Given the description of an element on the screen output the (x, y) to click on. 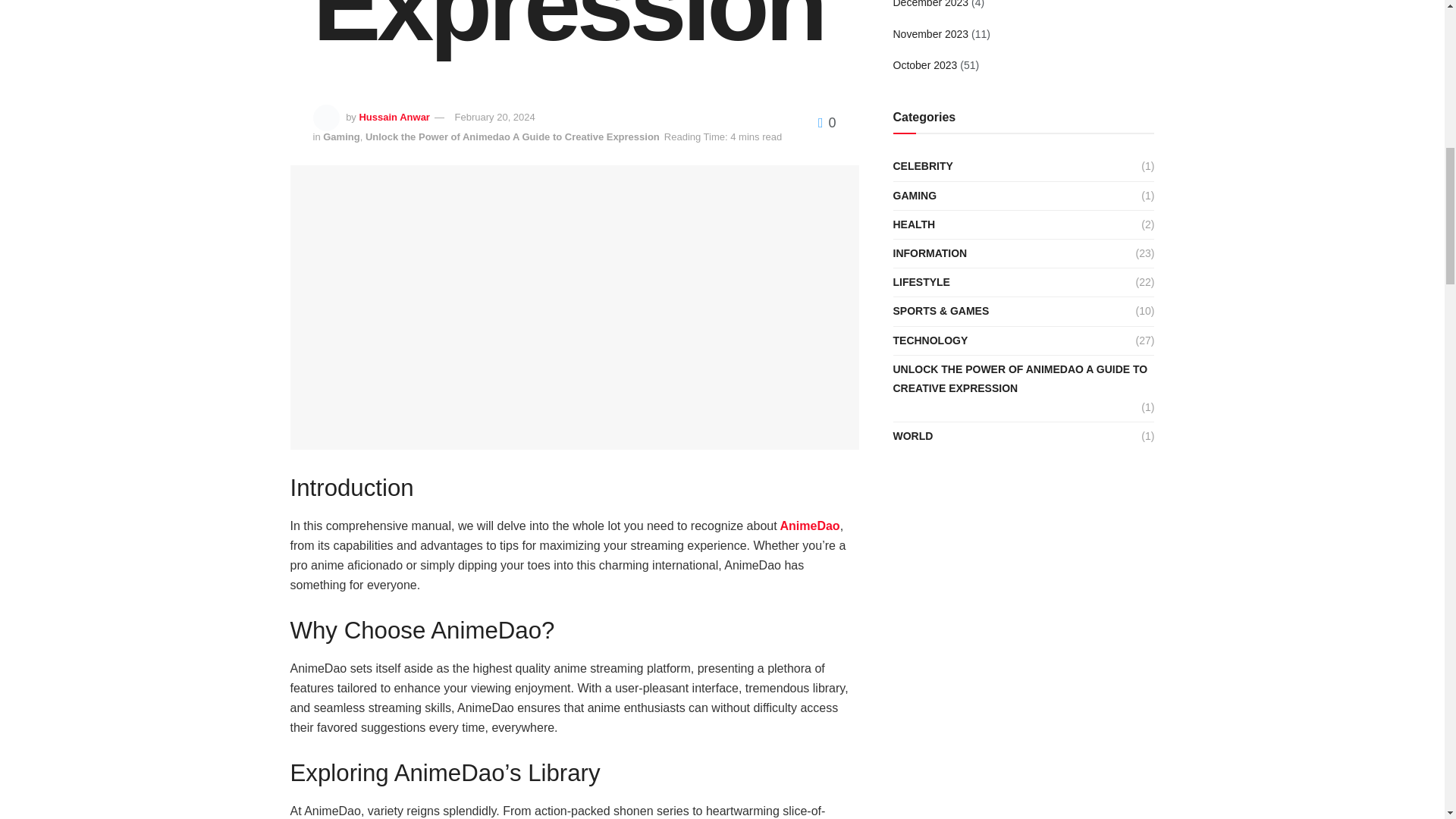
Hussain Anwar (393, 116)
AnimeDao (808, 525)
Unlock the Power of Animedao A Guide to Creative Expression (512, 136)
Gaming (341, 136)
0 (826, 122)
February 20, 2024 (494, 116)
